Given the description of an element on the screen output the (x, y) to click on. 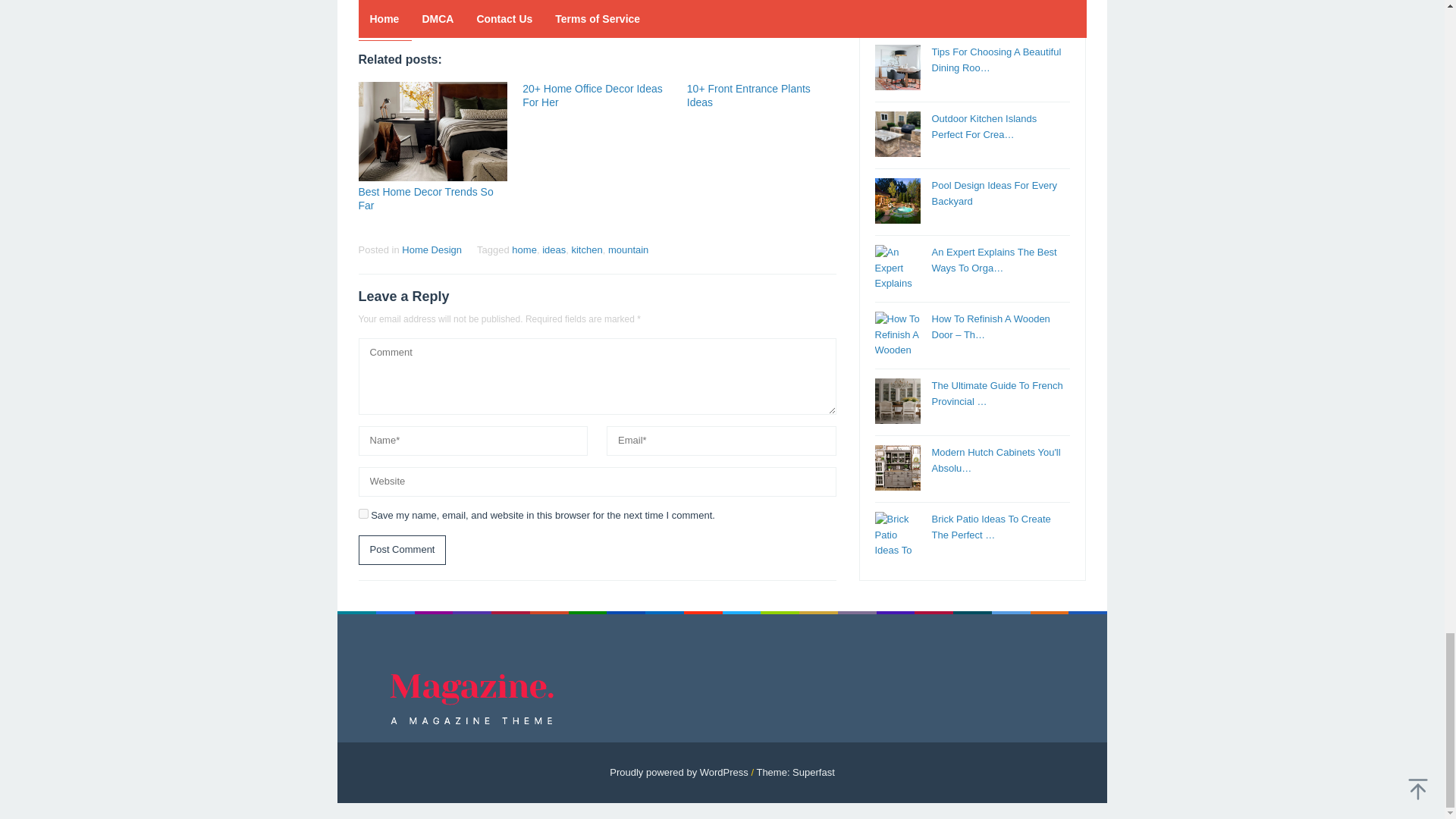
ideas (553, 249)
Post Comment (401, 550)
mountain (627, 249)
Theme: Superfast (794, 772)
Best Home Decor Trends So Far (425, 198)
Pin this (421, 13)
Permalink to: Best Home Decor Trends So Far (425, 198)
yes (363, 513)
Post Comment (401, 550)
Telegram Share (449, 13)
home (524, 249)
Home Design (431, 249)
Proudly powered by WordPress (679, 772)
Permalink to: Best Home Decor Trends So Far (432, 130)
Whatsapp (475, 13)
